Given the description of an element on the screen output the (x, y) to click on. 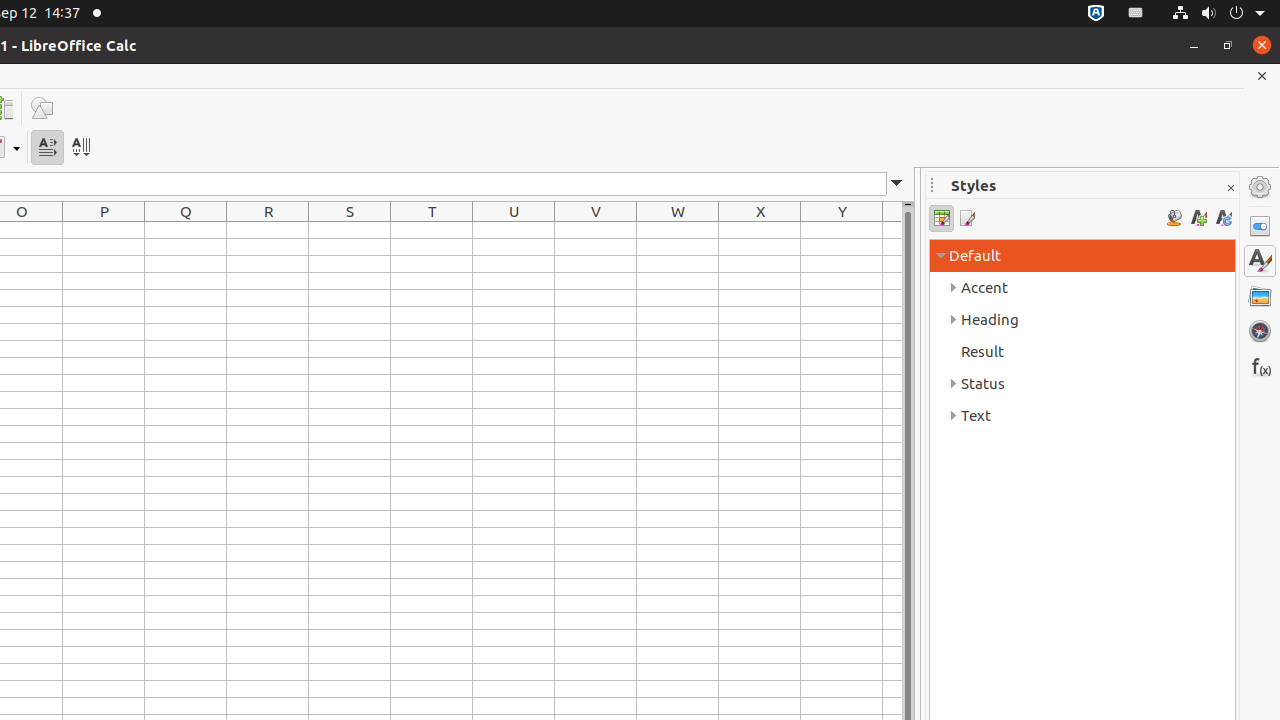
:1.21/StatusNotifierItem Element type: menu (1136, 13)
Page Styles Element type: push-button (966, 218)
W1 Element type: table-cell (678, 230)
Expand Formula Bar Element type: push-button (897, 183)
U1 Element type: table-cell (514, 230)
